Given the description of an element on the screen output the (x, y) to click on. 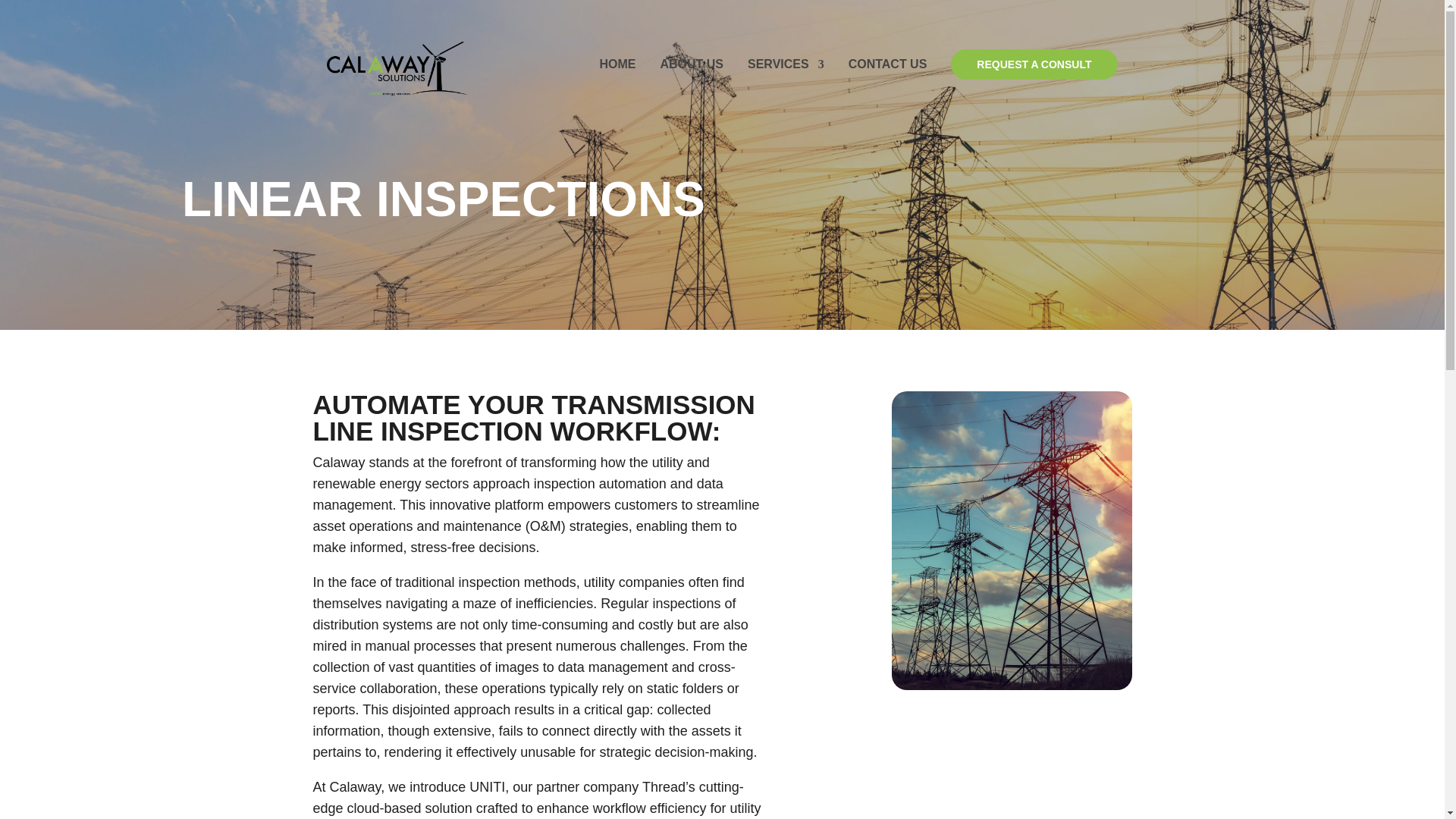
REQUEST A CONSULT (1033, 64)
CONTACT US (887, 64)
t1c (1011, 686)
SERVICES (786, 64)
ABOUT US (691, 64)
